Given the description of an element on the screen output the (x, y) to click on. 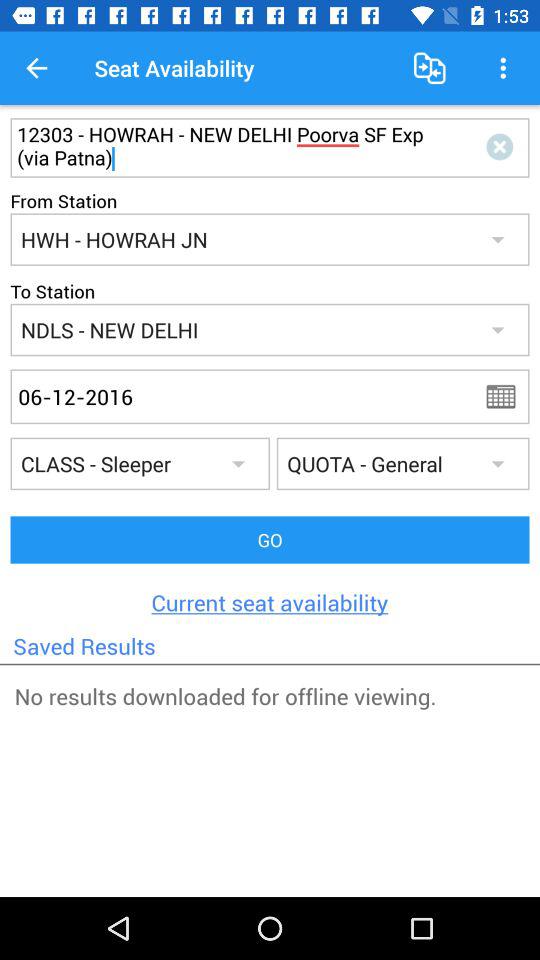
delete selection (503, 147)
